Given the description of an element on the screen output the (x, y) to click on. 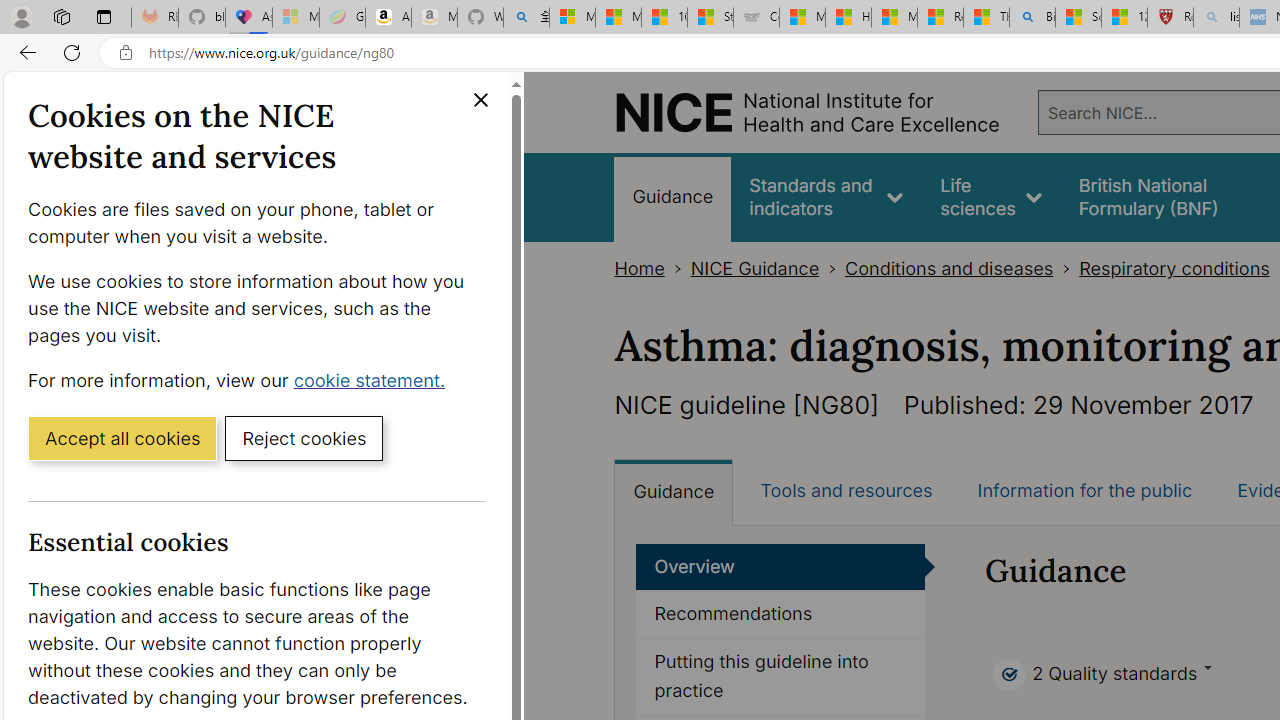
Guidance (673, 491)
Bing (1031, 17)
Putting this guideline into practice (780, 676)
Accept all cookies (122, 437)
Asthma Inhalers: Names and Types (249, 17)
12 Popular Science Lies that Must be Corrected (1124, 17)
Overview (780, 566)
Recommendations (780, 615)
Conditions and diseases (948, 268)
